Given the description of an element on the screen output the (x, y) to click on. 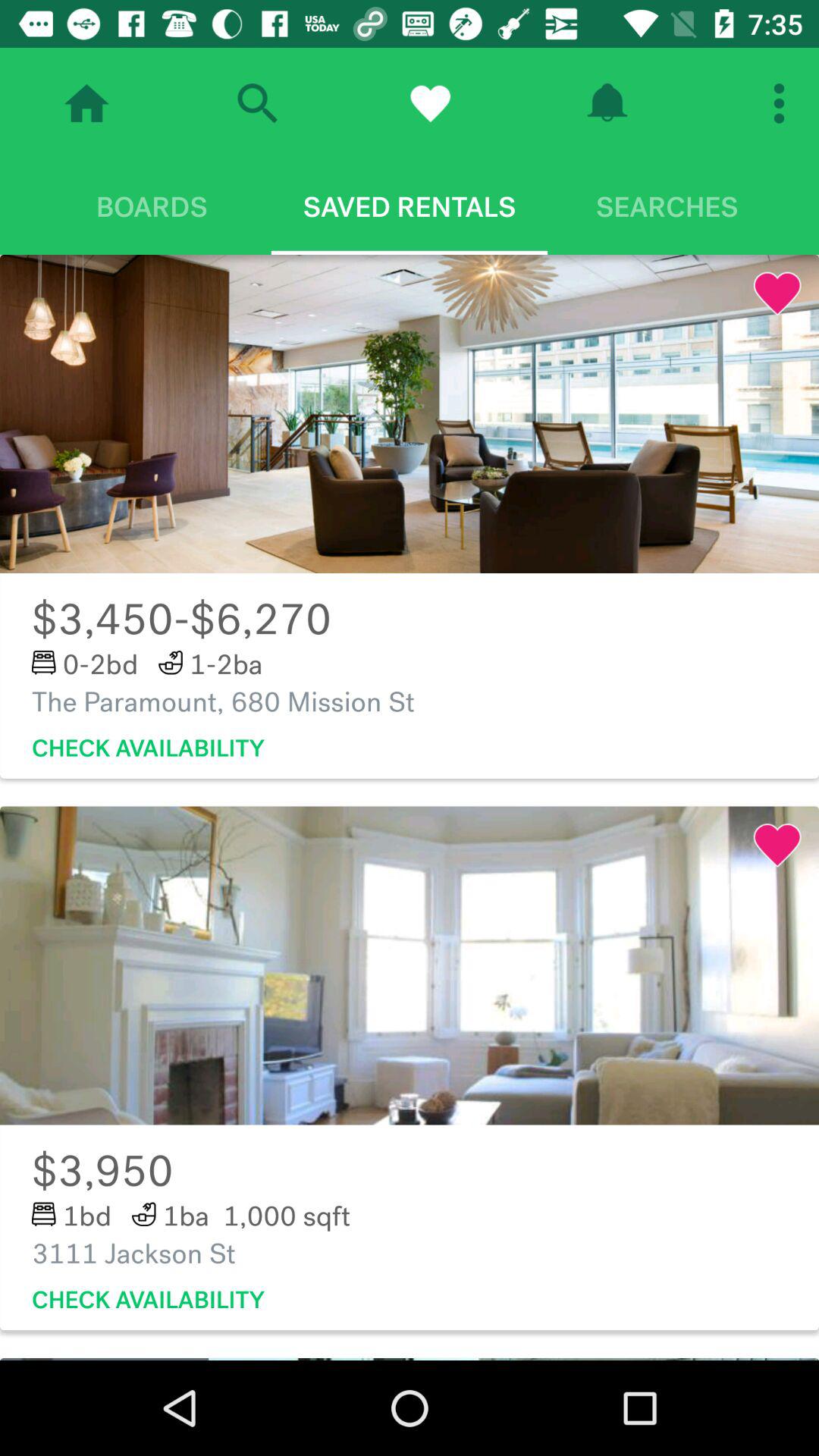
click on the button which is below the paramount 680 mission st (148, 748)
